Given the description of an element on the screen output the (x, y) to click on. 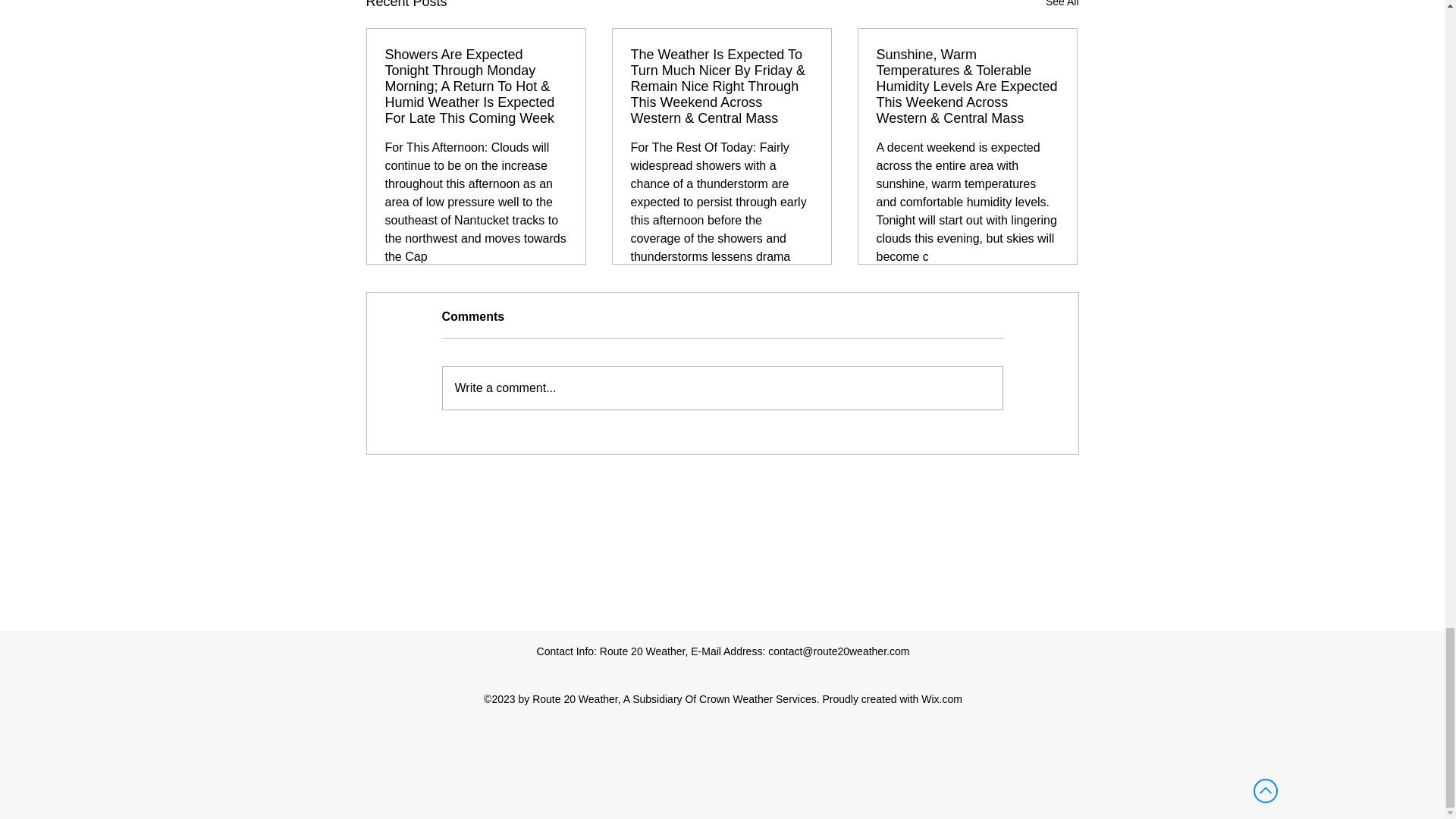
Write a comment... (722, 387)
See All (1061, 6)
